Given the description of an element on the screen output the (x, y) to click on. 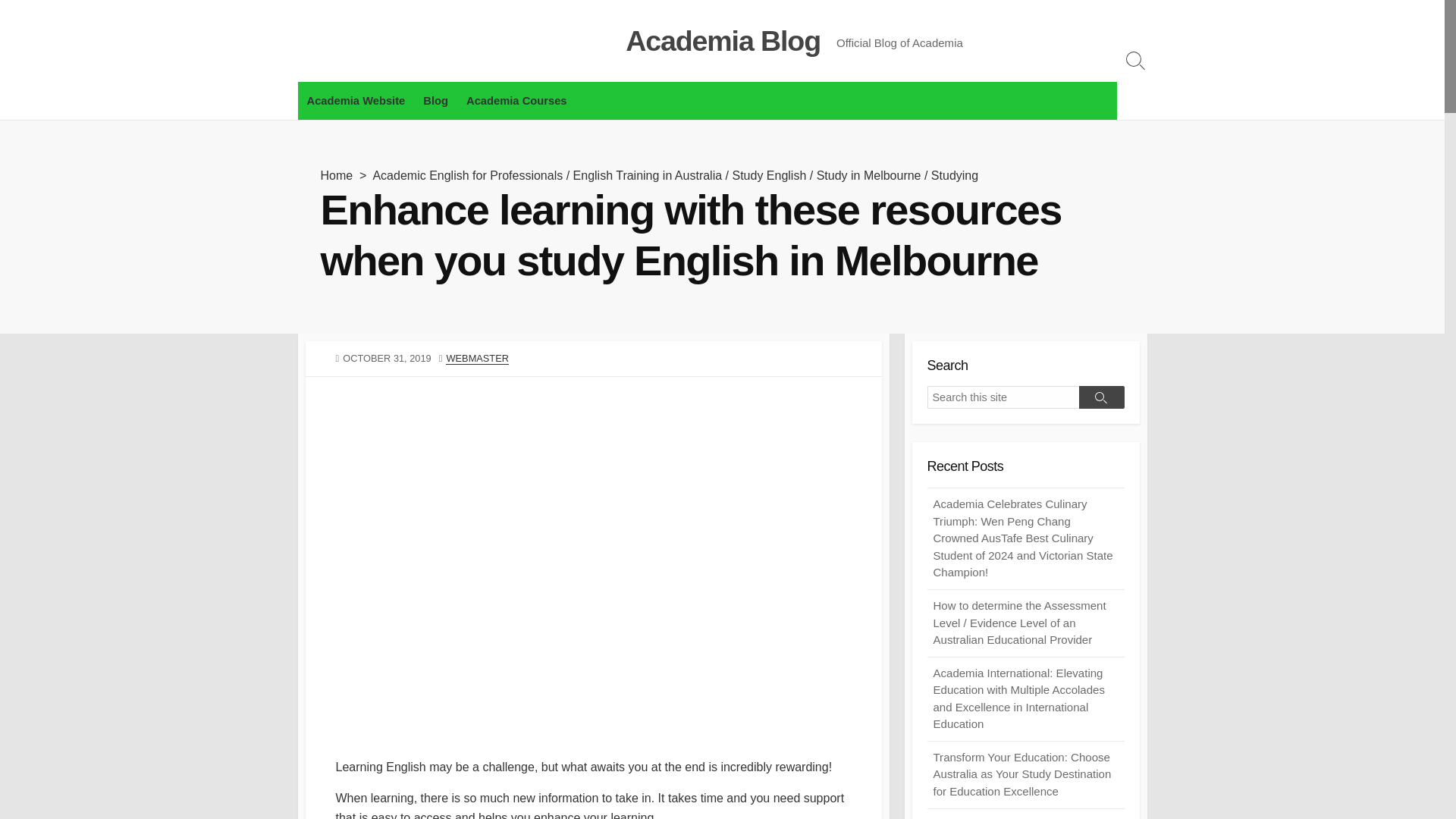
Studying (954, 174)
WEBMASTER (476, 357)
Home (336, 174)
Academic English for Professionals (467, 174)
Academia Blog (530, 40)
Study in Melbourne (868, 174)
Posts by Webmaster (476, 357)
English Training in Australia (647, 174)
Academia Blog (723, 41)
Blog (435, 100)
